Given the description of an element on the screen output the (x, y) to click on. 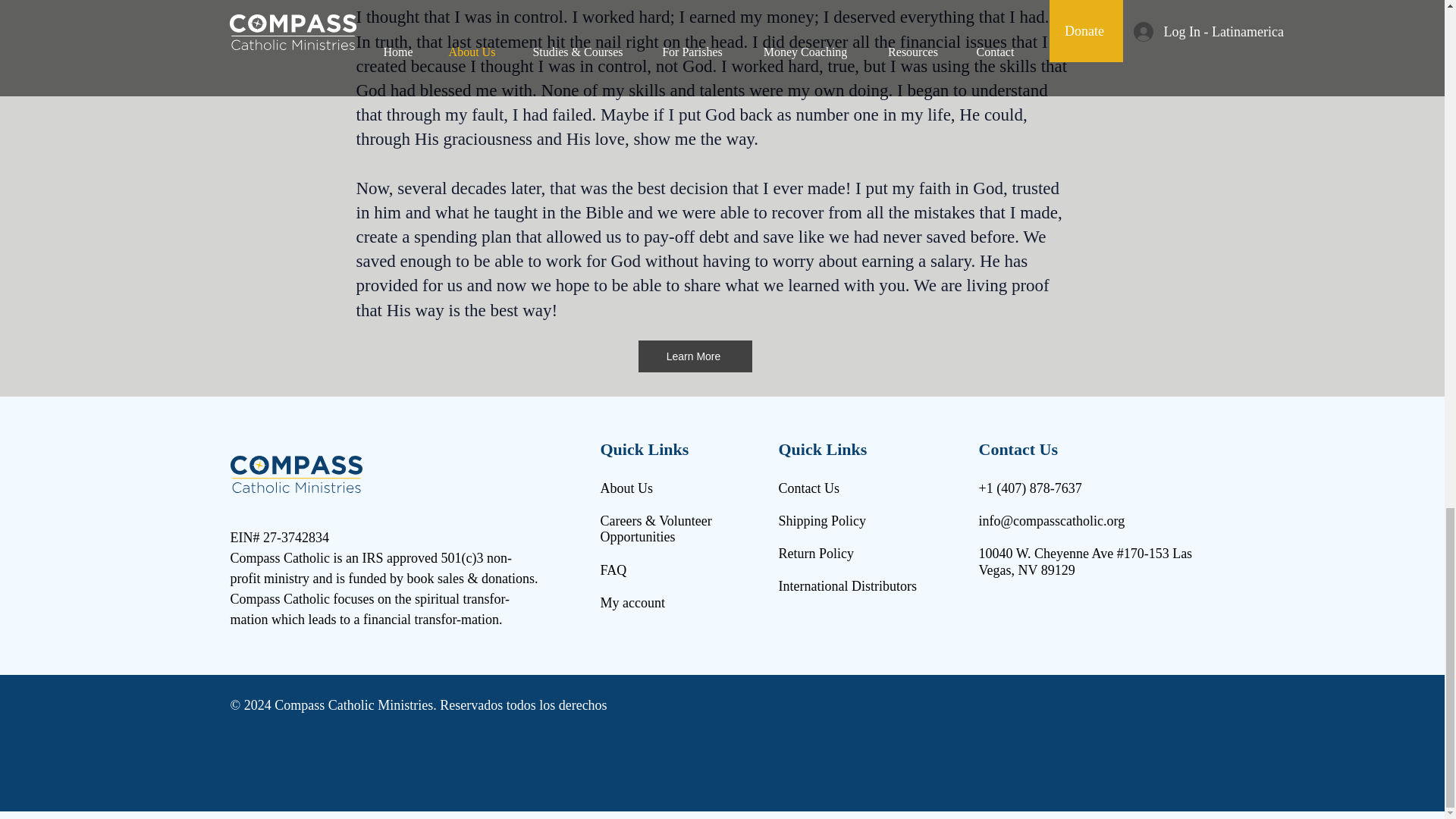
Contact Us (808, 488)
FAQ (613, 570)
My account (632, 602)
Return Policy (815, 553)
International Distributors (846, 585)
Learn More (695, 356)
Shipping Policy (821, 520)
About Us (626, 488)
